Given the description of an element on the screen output the (x, y) to click on. 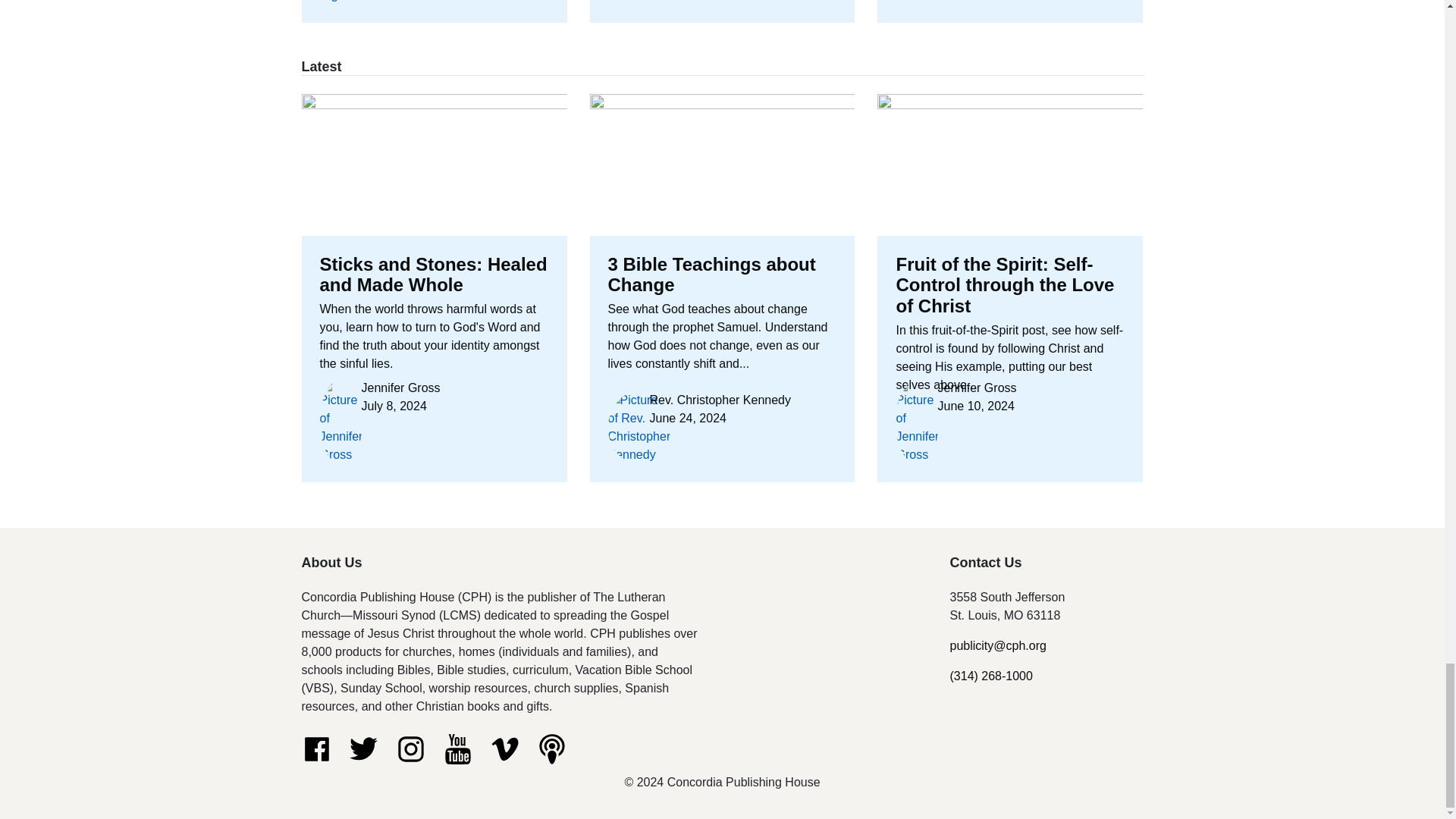
Follow us on Facebook (316, 748)
Listen to our podcasts (552, 748)
Fruit of the Spirit: Self-Control through the Love of Christ (1009, 288)
Watch us on YouTube (457, 748)
Watch us on Vimeo (504, 748)
Follow us on Instagram (411, 748)
Sticks and Stones: Healed and Made Whole (722, 11)
Follow us on Twitter (363, 748)
3 Bible Teachings about Change (722, 288)
